Given the description of an element on the screen output the (x, y) to click on. 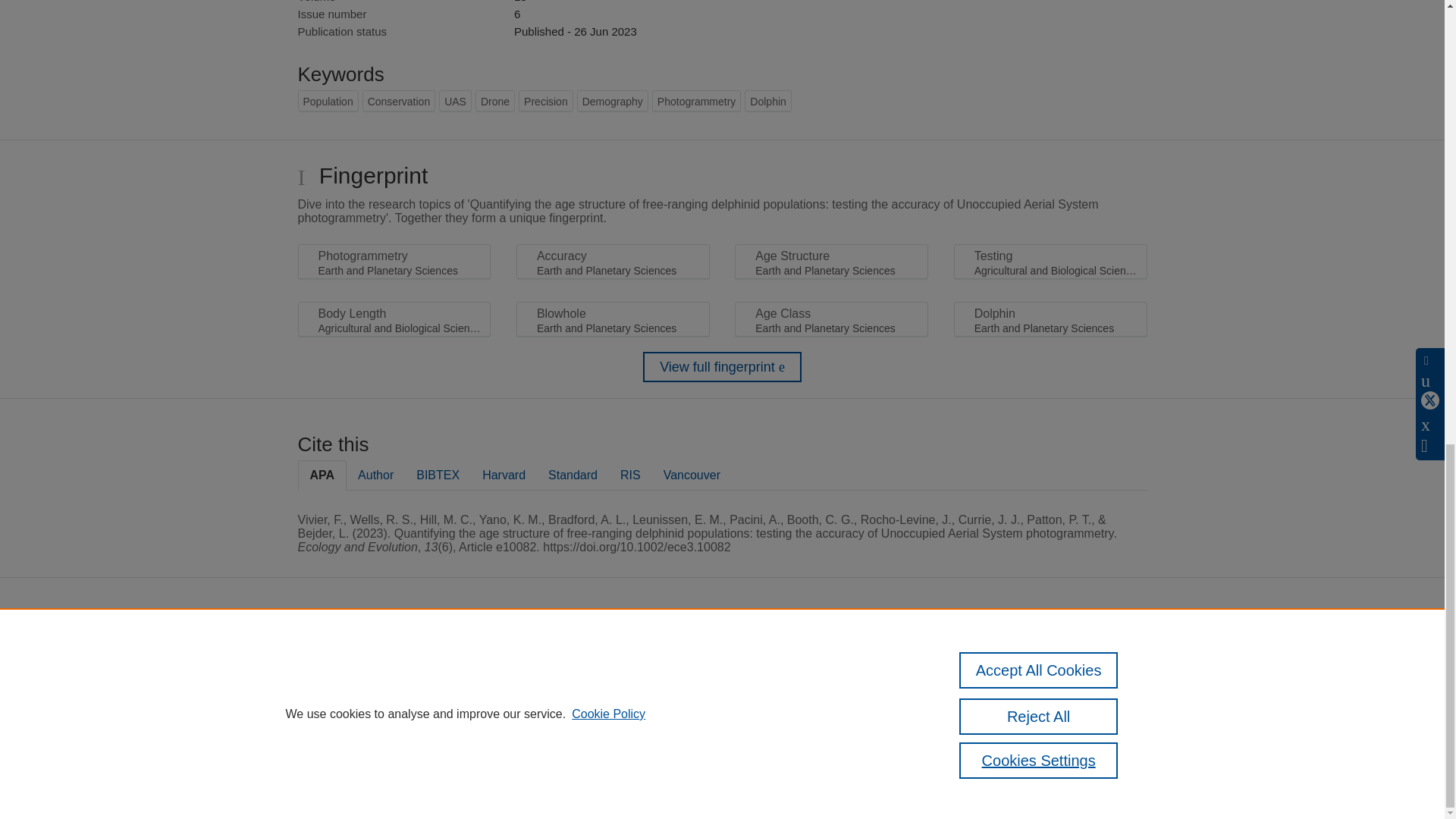
View full fingerprint (722, 367)
